Given the description of an element on the screen output the (x, y) to click on. 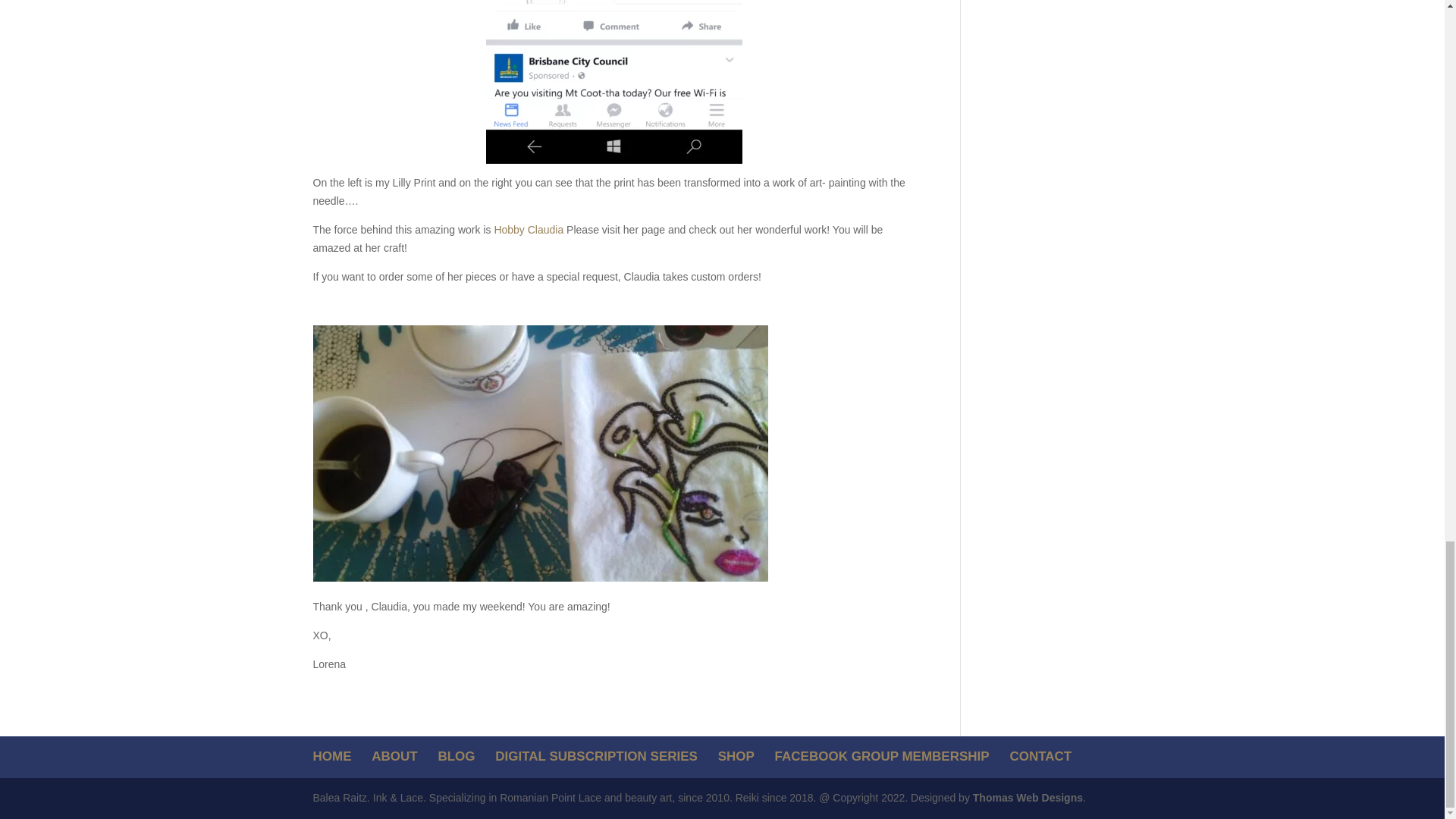
ABOUT (393, 756)
Thomas Web Designs (1027, 797)
CONTACT (1040, 756)
SHOP (735, 756)
DIGITAL SUBSCRIPTION SERIES (596, 756)
FACEBOOK GROUP MEMBERSHIP (882, 756)
Hobby Claudia (528, 229)
BLOG (456, 756)
HOME (331, 756)
